Given the description of an element on the screen output the (x, y) to click on. 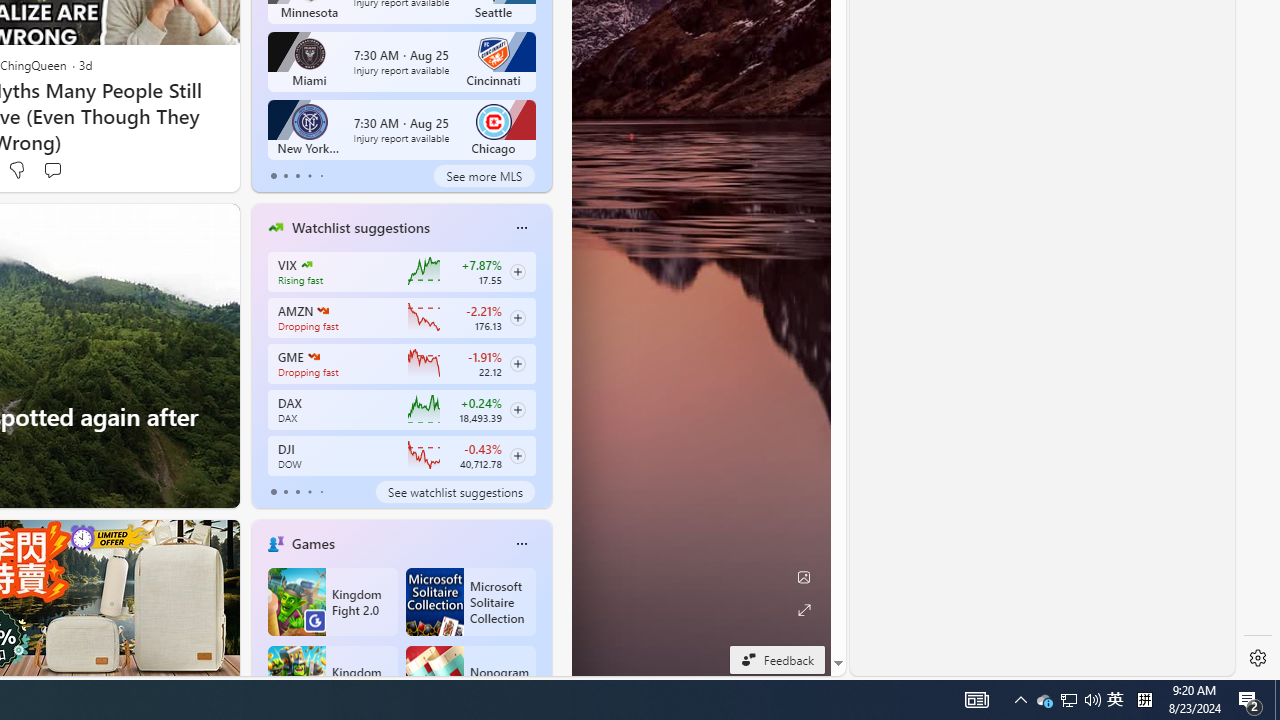
tab-1 (285, 491)
Class: follow-button  m (517, 455)
Notification Chevron (1020, 699)
GAMESTOP CORP. (1044, 699)
Watchlist suggestions (313, 356)
See more MLS (360, 227)
AMAZON.COM, INC. (484, 175)
tab-2 (322, 310)
